Given the description of an element on the screen output the (x, y) to click on. 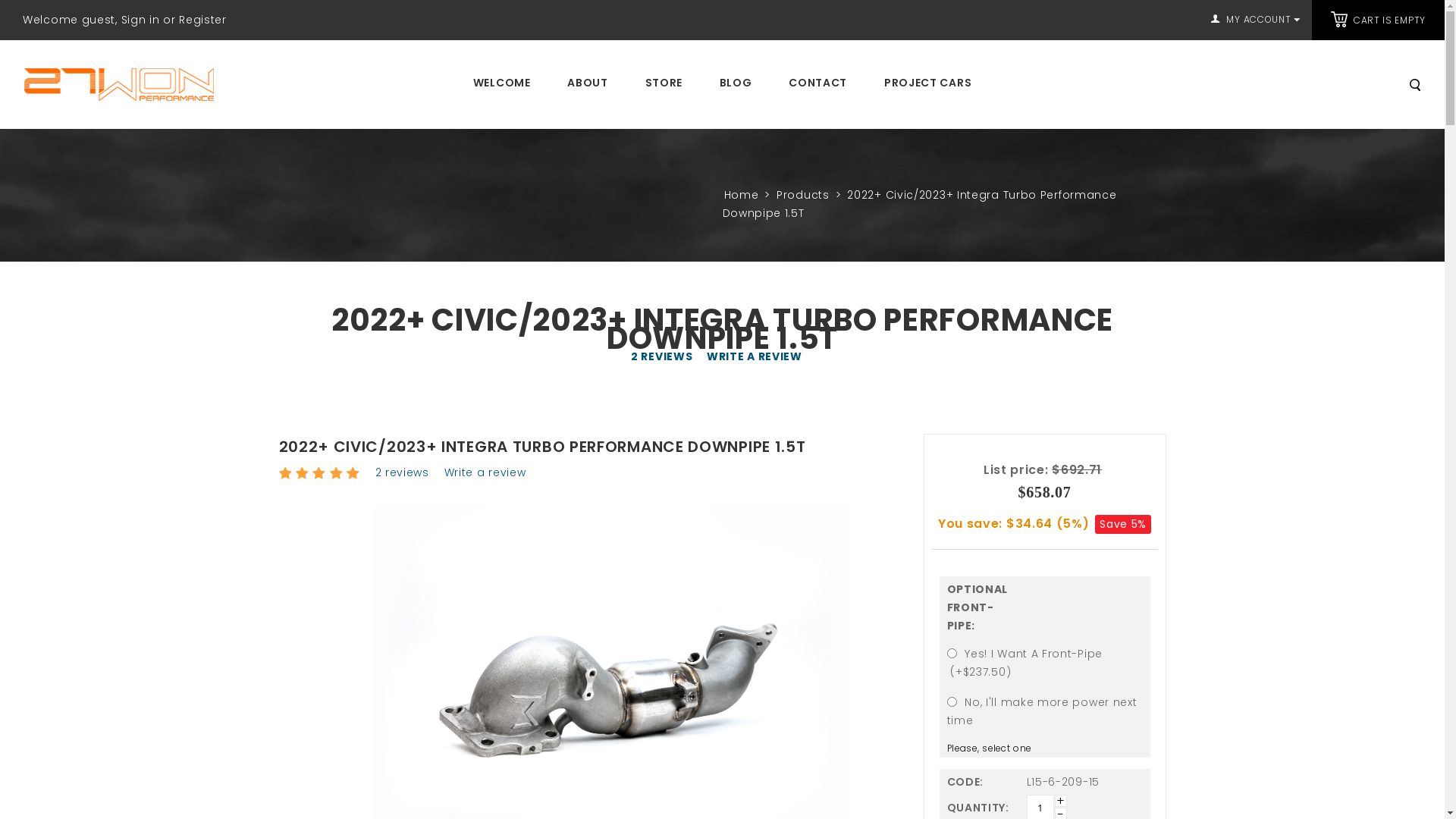
12956 Element type: text (951, 701)
CART IS EMPTY Element type: text (1389, 19)
+ Element type: text (1060, 800)
Write a review Element type: text (485, 472)
BLOG Element type: text (735, 82)
Home Element type: text (740, 194)
Products Element type: text (803, 194)
STORE Element type: text (664, 82)
WRITE A REVIEW Element type: text (754, 356)
PROJECT CARS Element type: text (927, 82)
  MY ACCOUNT Element type: text (1255, 19)
2 reviews Element type: text (402, 472)
12955 Element type: text (951, 653)
WELCOME Element type: text (502, 82)
Sign in Element type: text (140, 19)
ABOUT Element type: text (587, 82)
Register Element type: text (202, 19)
CONTACT Element type: text (817, 82)
2 REVIEWS Element type: text (661, 356)
